Given the description of an element on the screen output the (x, y) to click on. 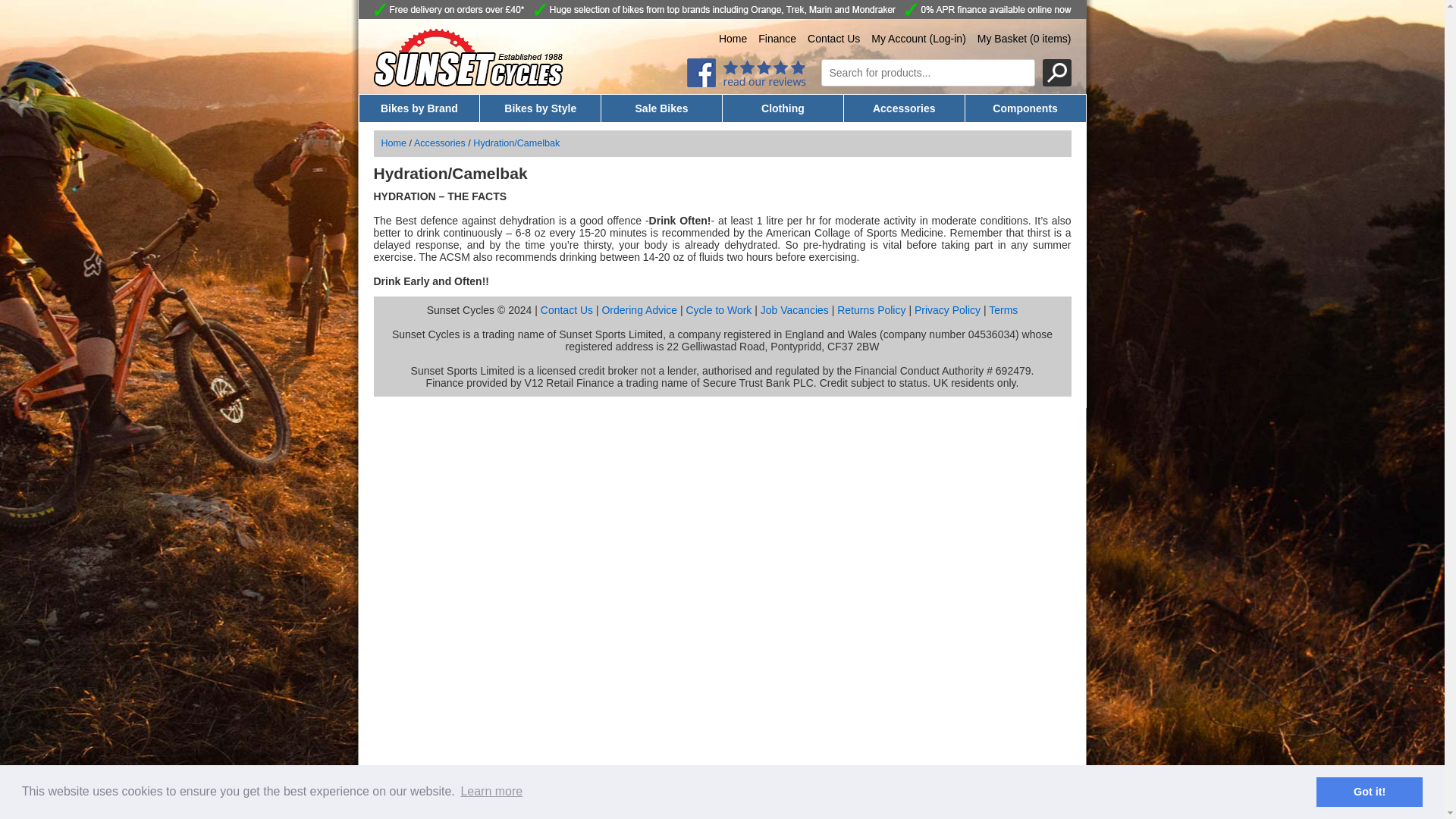
Cycle Accessories (439, 143)
Finance (777, 38)
Bikes by Style (539, 108)
Bikes by Brand (419, 108)
Home (732, 38)
Read Our Facebook Reviews (746, 82)
Sale Bikes (661, 108)
Contact Us (834, 38)
Sunset Cycles (467, 82)
